Given the description of an element on the screen output the (x, y) to click on. 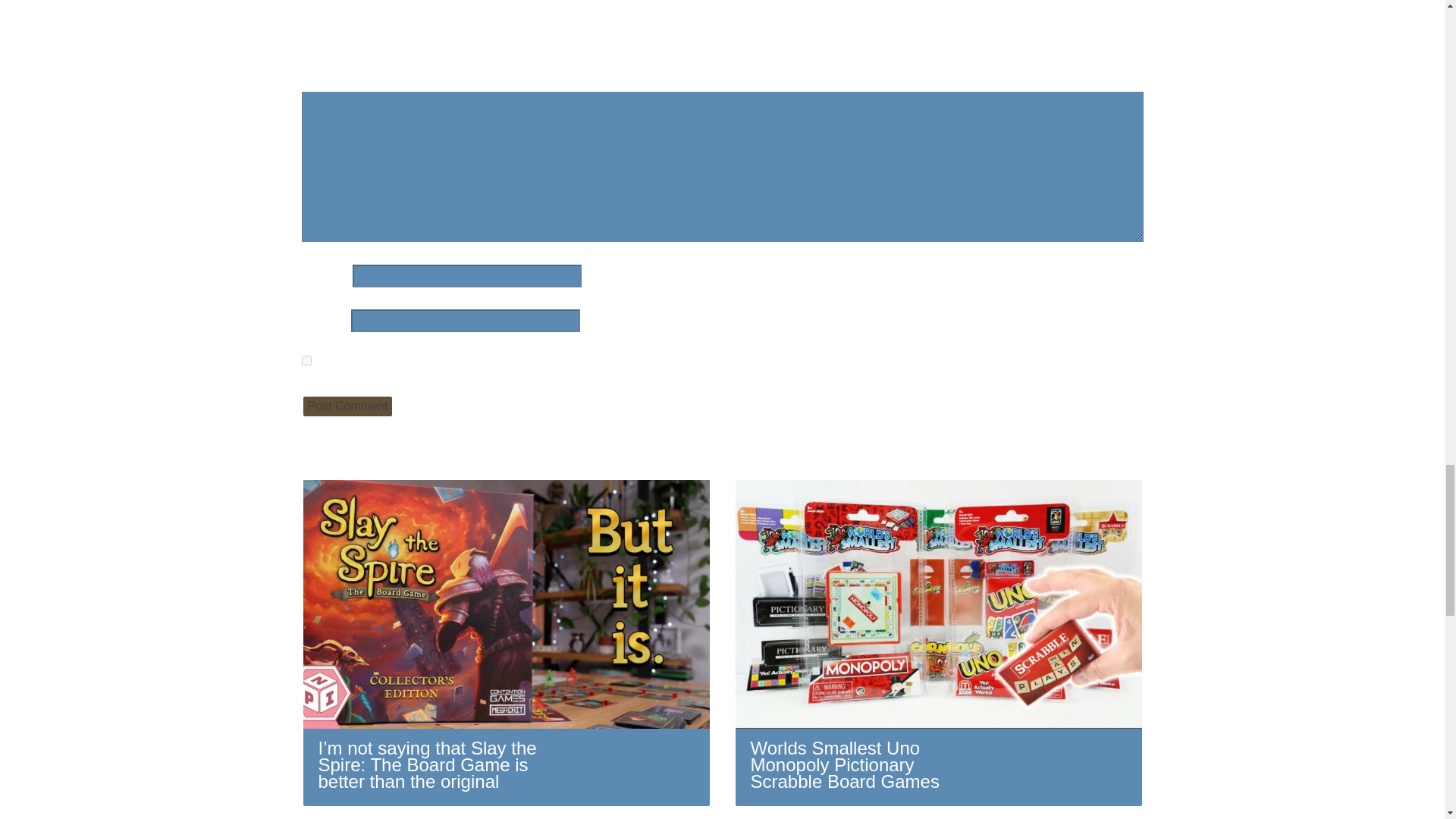
Post Comment (347, 405)
Worlds Smallest Uno Monopoly Pictionary Scrabble Board Games (938, 642)
yes (306, 360)
Post Comment (347, 405)
